Given the description of an element on the screen output the (x, y) to click on. 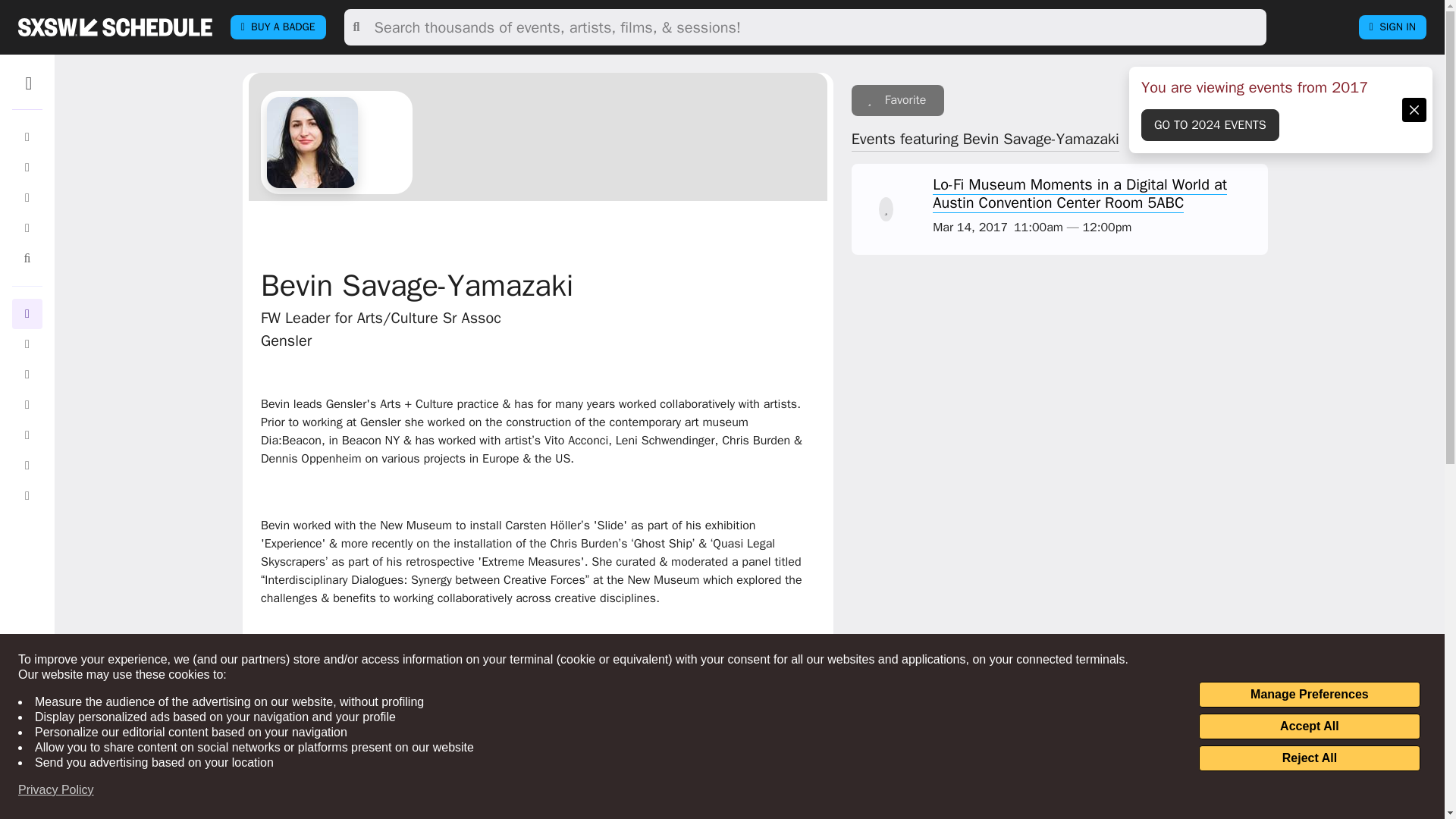
GO TO 2024 EVENTS (1210, 124)
sxsw SCHEDULE (114, 27)
Reject All (1309, 758)
BUY A BADGE (278, 27)
SIGN IN (1392, 27)
Accept All (1309, 726)
Sign In to add to your favorites. (897, 100)
Privacy Policy (55, 789)
Manage Preferences (1309, 694)
